Given the description of an element on the screen output the (x, y) to click on. 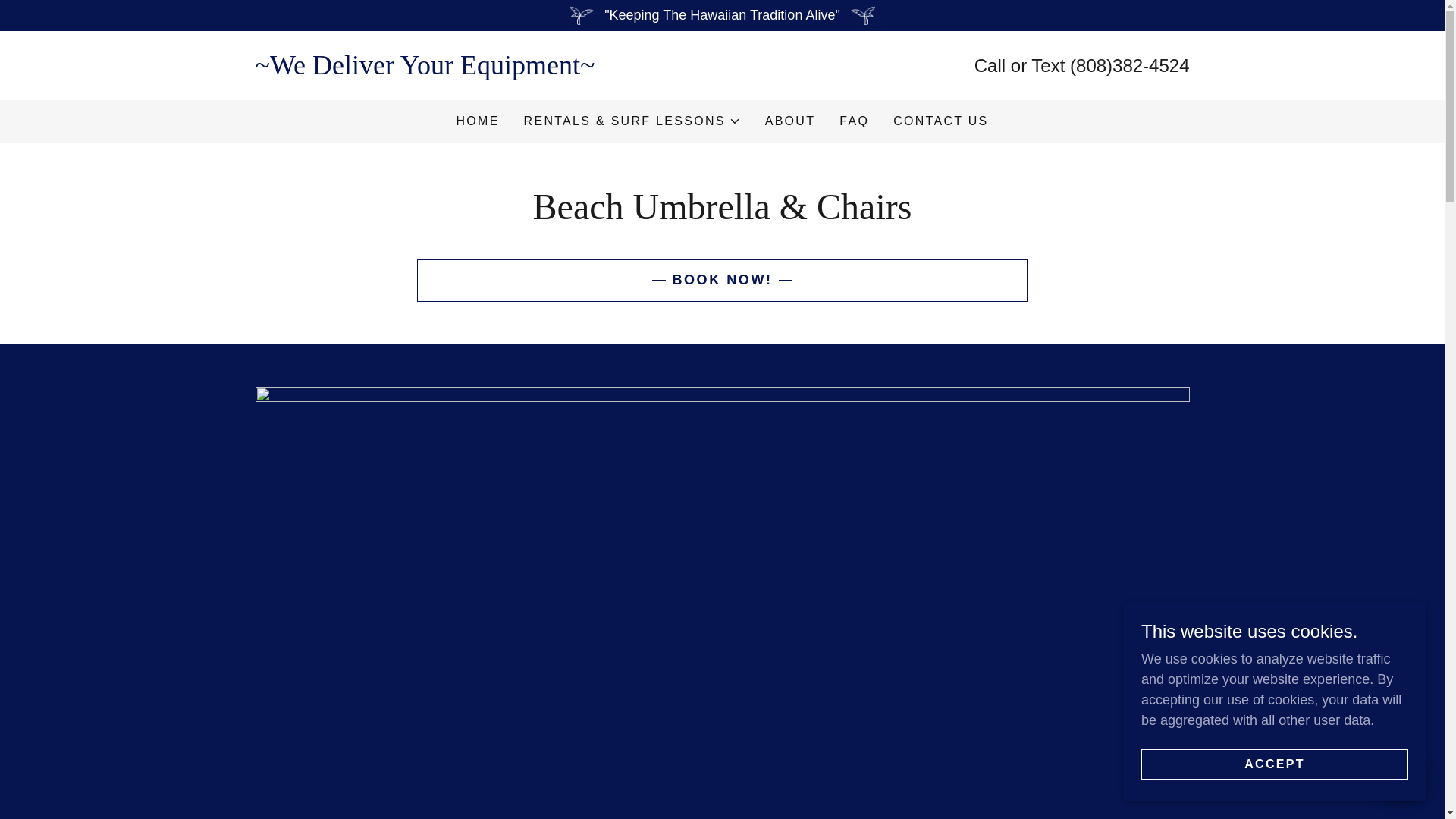
FAQ (853, 121)
ABOUT (790, 121)
HOME (477, 121)
CONTACT US (940, 121)
